Given the description of an element on the screen output the (x, y) to click on. 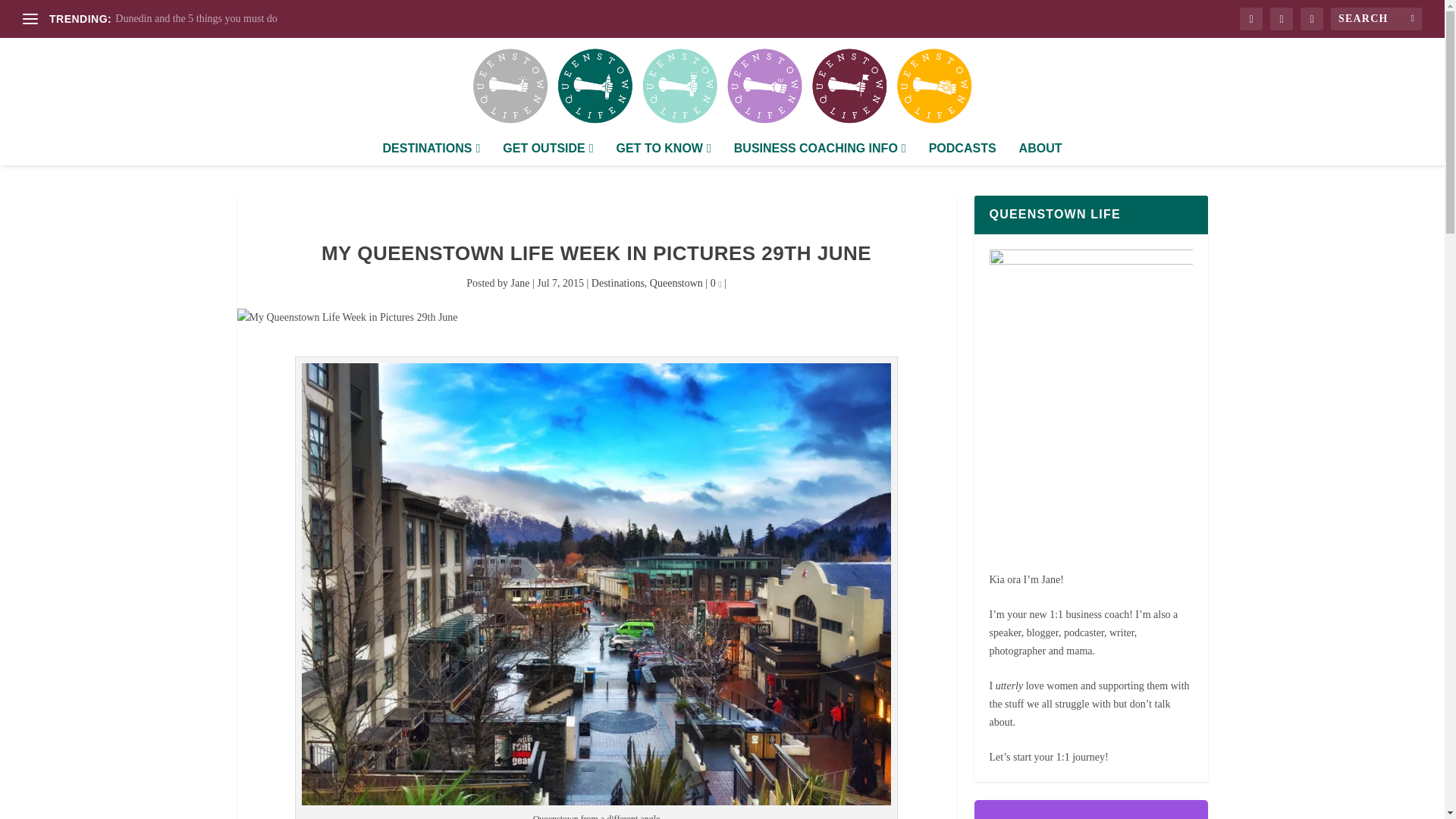
GET OUTSIDE (547, 153)
GET TO KNOW (663, 153)
Search for: (1376, 18)
Dunedin and the 5 things you must do (196, 18)
Posts by Jane (520, 283)
DESTINATIONS (431, 153)
BUSINESS COACHING INFO (819, 153)
ABOUT (1040, 153)
PODCASTS (961, 153)
